Given the description of an element on the screen output the (x, y) to click on. 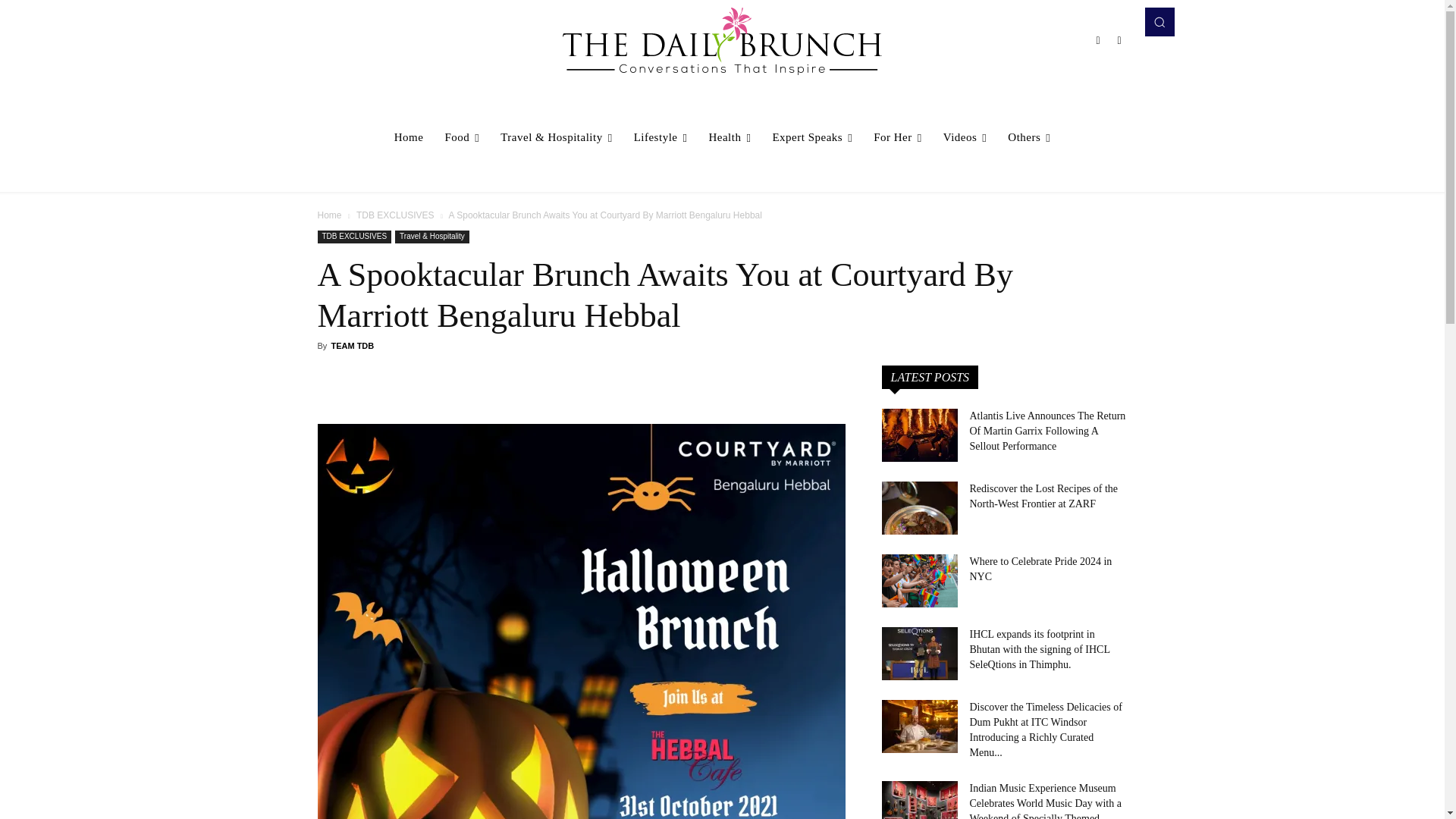
Facebook (1097, 39)
Food (461, 136)
Youtube (1118, 39)
Home (408, 136)
